Given the description of an element on the screen output the (x, y) to click on. 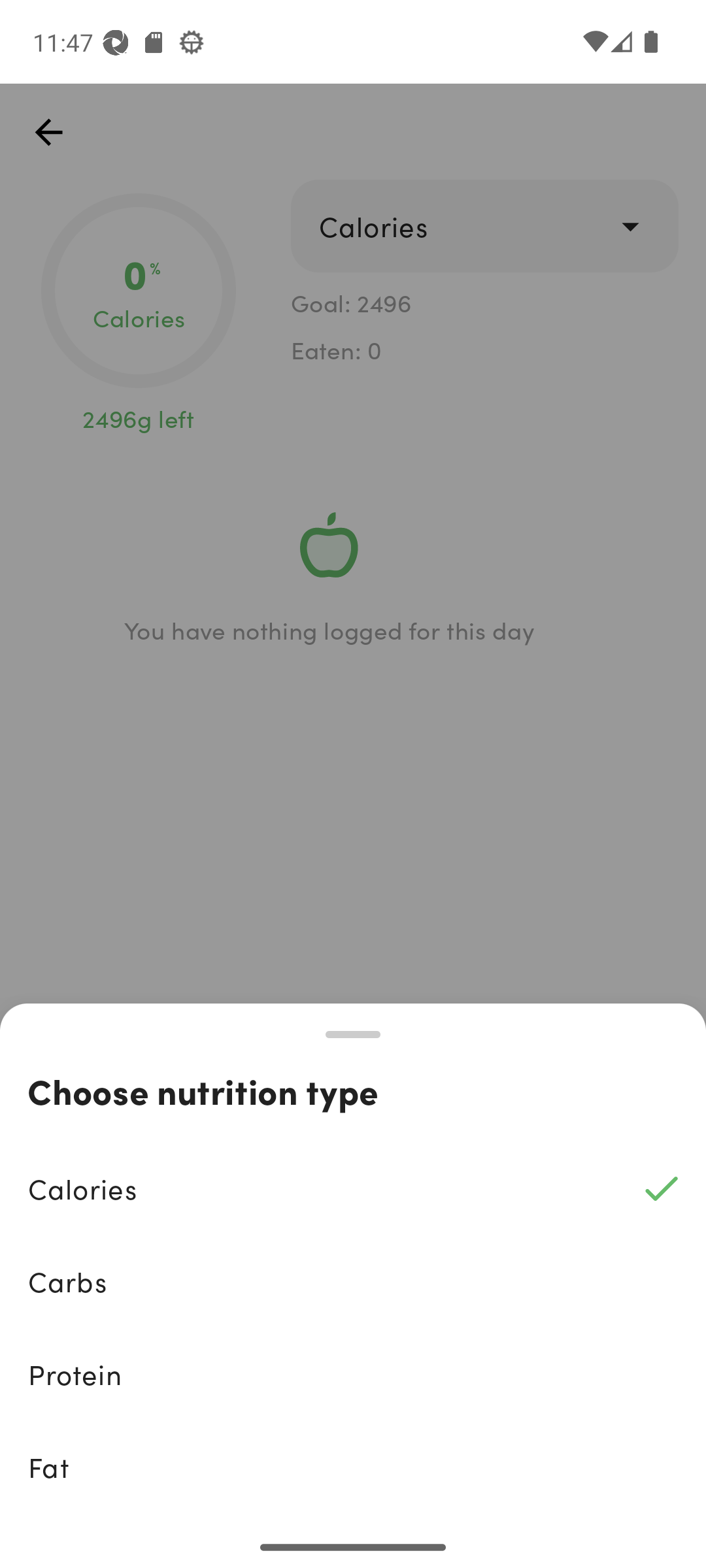
bottom_sheet_option Carbs bottom_sheet_option_text (353, 1281)
bottom_sheet_option Fat bottom_sheet_option_text (353, 1466)
